Given the description of an element on the screen output the (x, y) to click on. 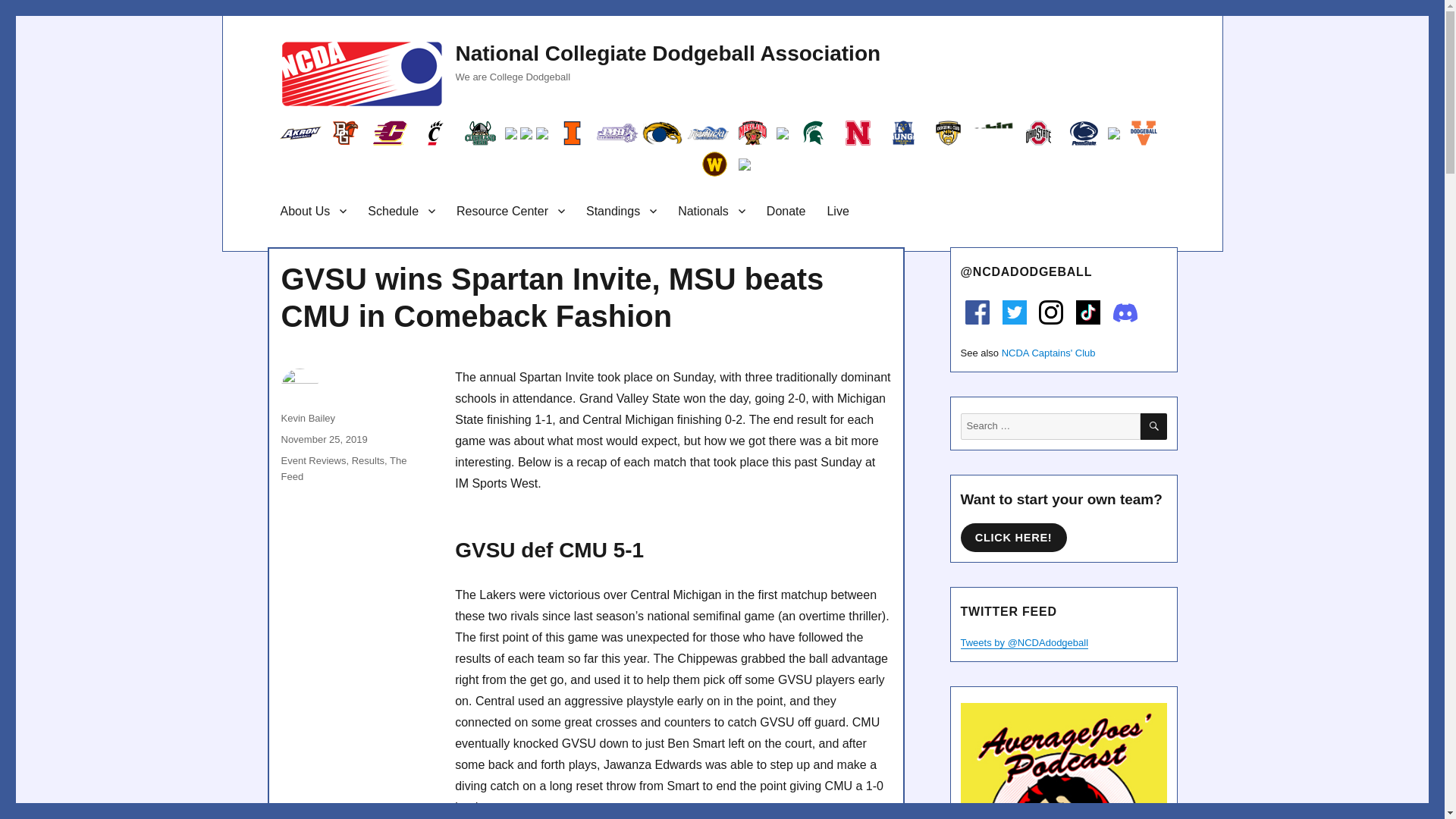
Average Joes' Podcast (1062, 760)
National Collegiate Dodgeball Association (667, 53)
Schedule (400, 210)
About Us (313, 210)
Resource Center (510, 210)
